Given the description of an element on the screen output the (x, y) to click on. 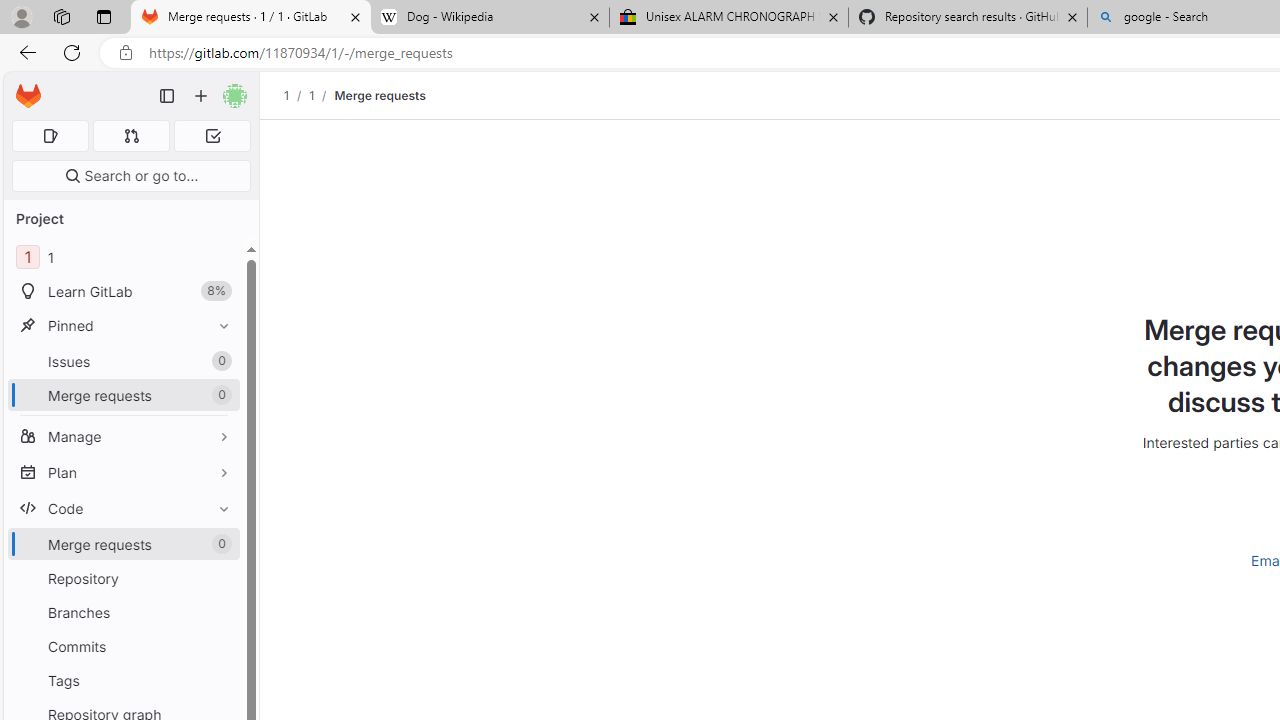
Create new... (201, 96)
Pin Branches (219, 611)
Merge requests0 (123, 543)
Issues 0 (123, 361)
Repository (123, 578)
Pin Tags (219, 680)
Dog - Wikipedia (490, 17)
Plan (123, 471)
Learn GitLab8% (123, 291)
Branches (123, 612)
Pin Repository (219, 578)
To-Do list 0 (212, 136)
